Given the description of an element on the screen output the (x, y) to click on. 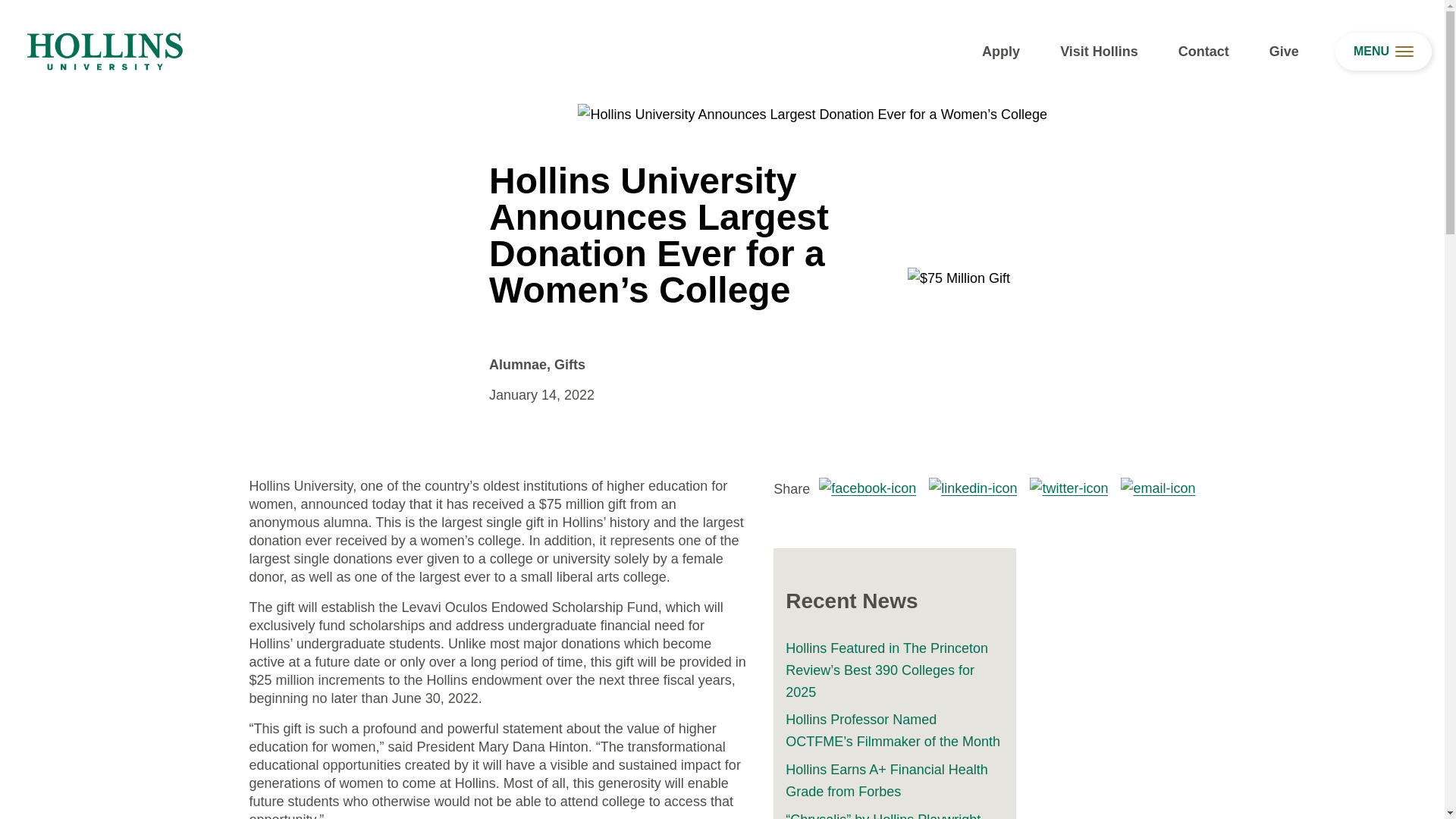
Visit Hollins (1098, 51)
Apply (1000, 51)
Contact (1202, 51)
Give (1283, 51)
